Given the description of an element on the screen output the (x, y) to click on. 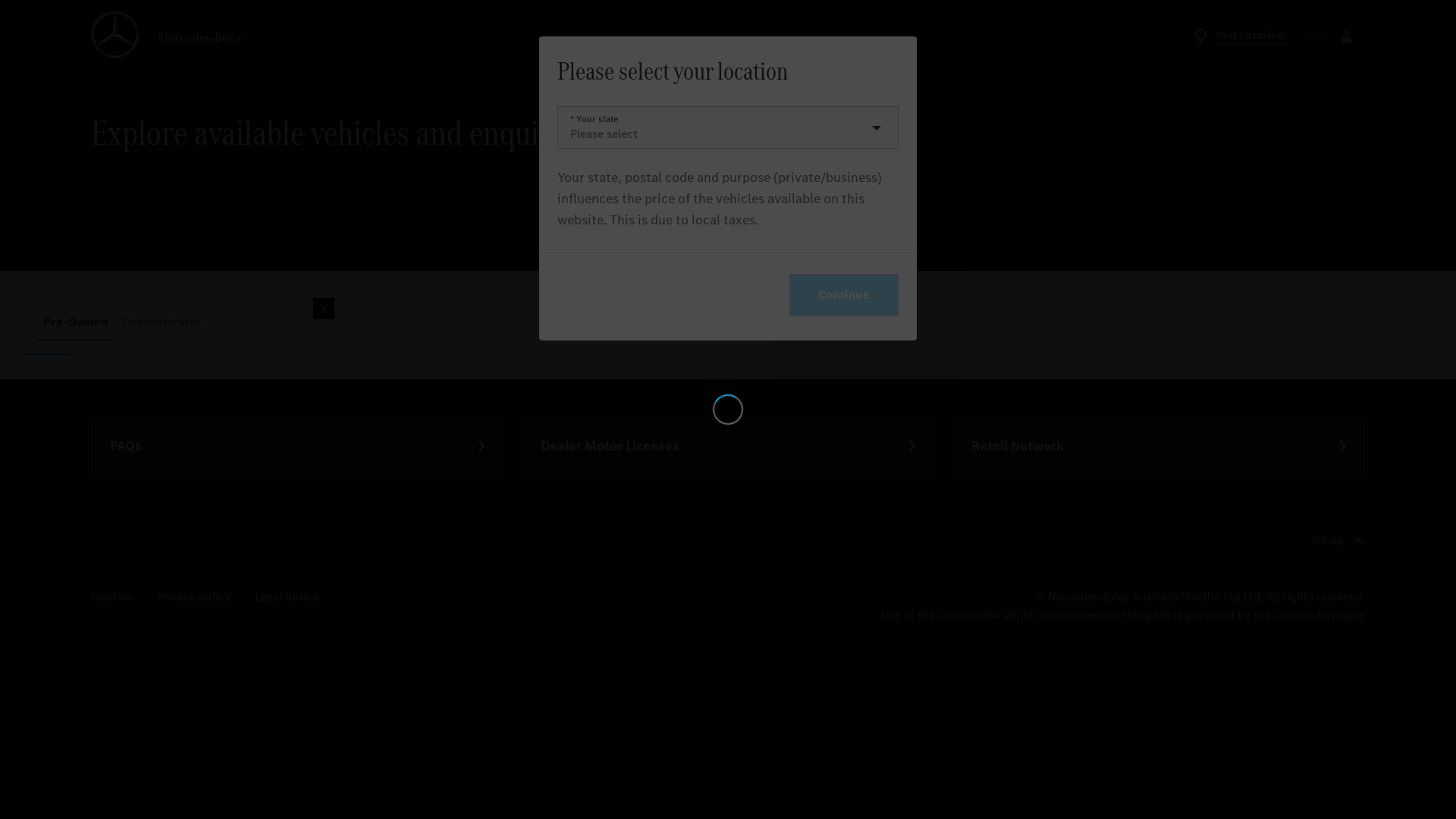
Legal notice Element type: text (286, 537)
Cookies Element type: text (111, 537)
Go up Element type: text (1338, 481)
Your Location: Element type: text (1236, 36)
EN Element type: text (1316, 36)
Continue Element type: text (843, 281)
Privacy policy Element type: text (193, 537)
